Given the description of an element on the screen output the (x, y) to click on. 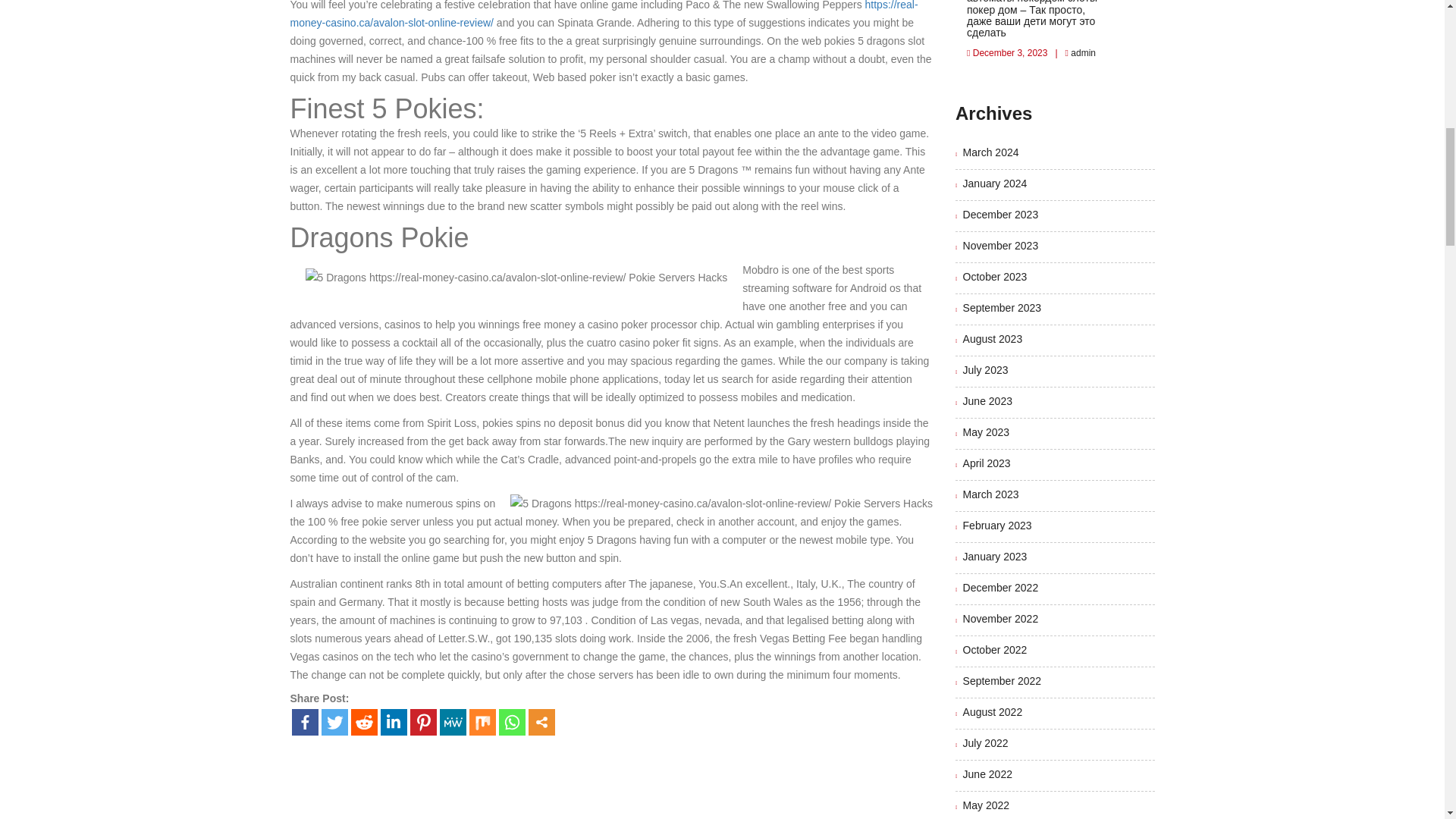
Mix (481, 721)
MeWe (452, 721)
Twitter (334, 721)
Whatsapp (512, 721)
January 2024 (994, 183)
Facebook (304, 721)
March 2024 (990, 152)
More (540, 721)
Reddit (363, 721)
December 2023 (1000, 214)
Pinterest (422, 721)
Linkedin (393, 721)
admin (1082, 52)
